Given the description of an element on the screen output the (x, y) to click on. 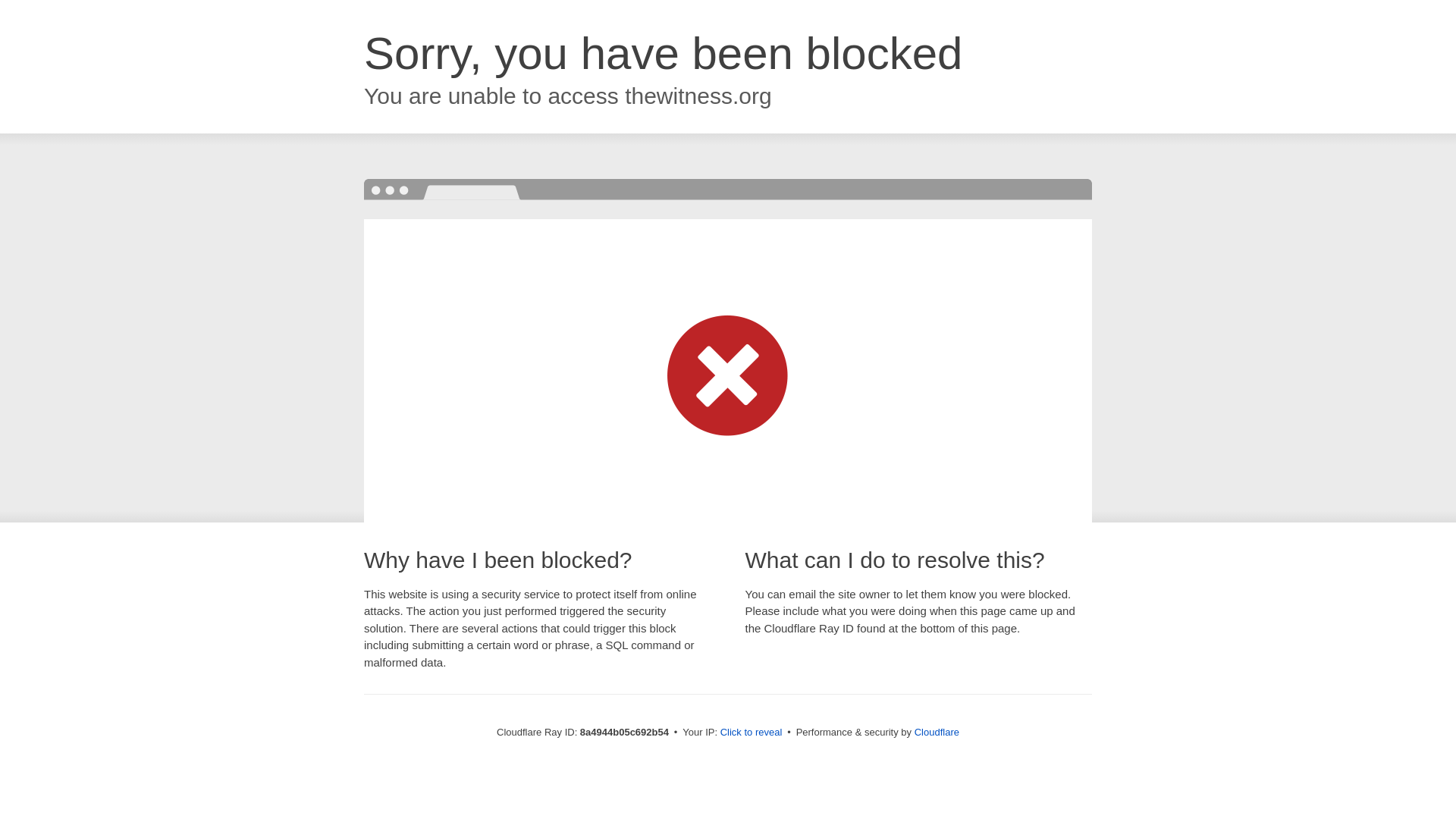
Cloudflare (936, 731)
Click to reveal (751, 732)
